Given the description of an element on the screen output the (x, y) to click on. 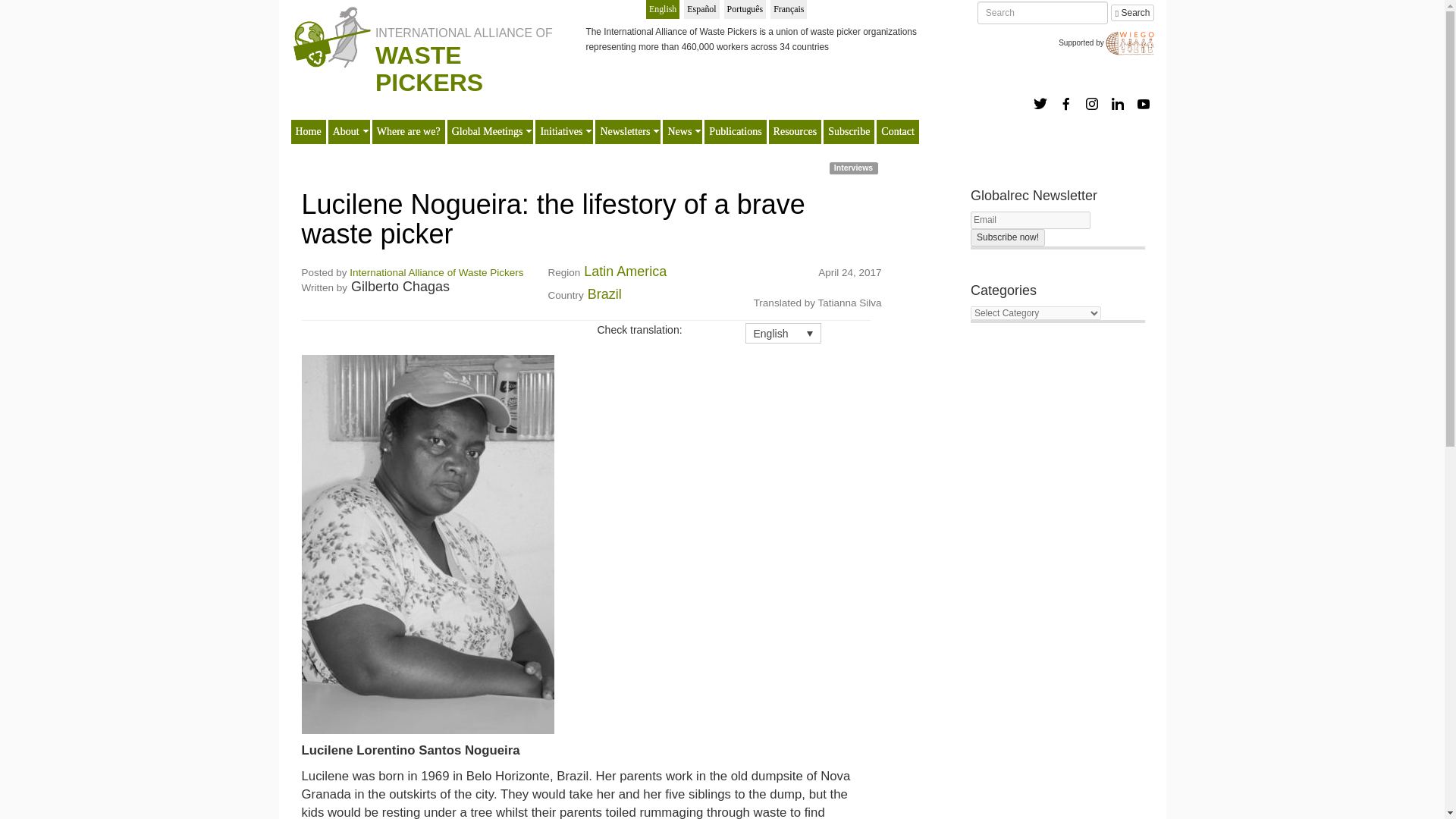
News (679, 131)
View all posts in Interviews (853, 168)
WIEGO (1129, 43)
Subscribe now! (1008, 237)
LinkedIn International Alliance of Waste Pickers (1117, 102)
About (345, 131)
Facebook International Alliance of Waste Pickers (1066, 102)
Search (1132, 12)
Global Meetings (487, 131)
Home (307, 131)
Where are we? (408, 131)
WIEGO (1129, 42)
Initiatives (560, 131)
Newsletters (624, 131)
Twitter International Alliance of Waste Pickers (1040, 102)
